Given the description of an element on the screen output the (x, y) to click on. 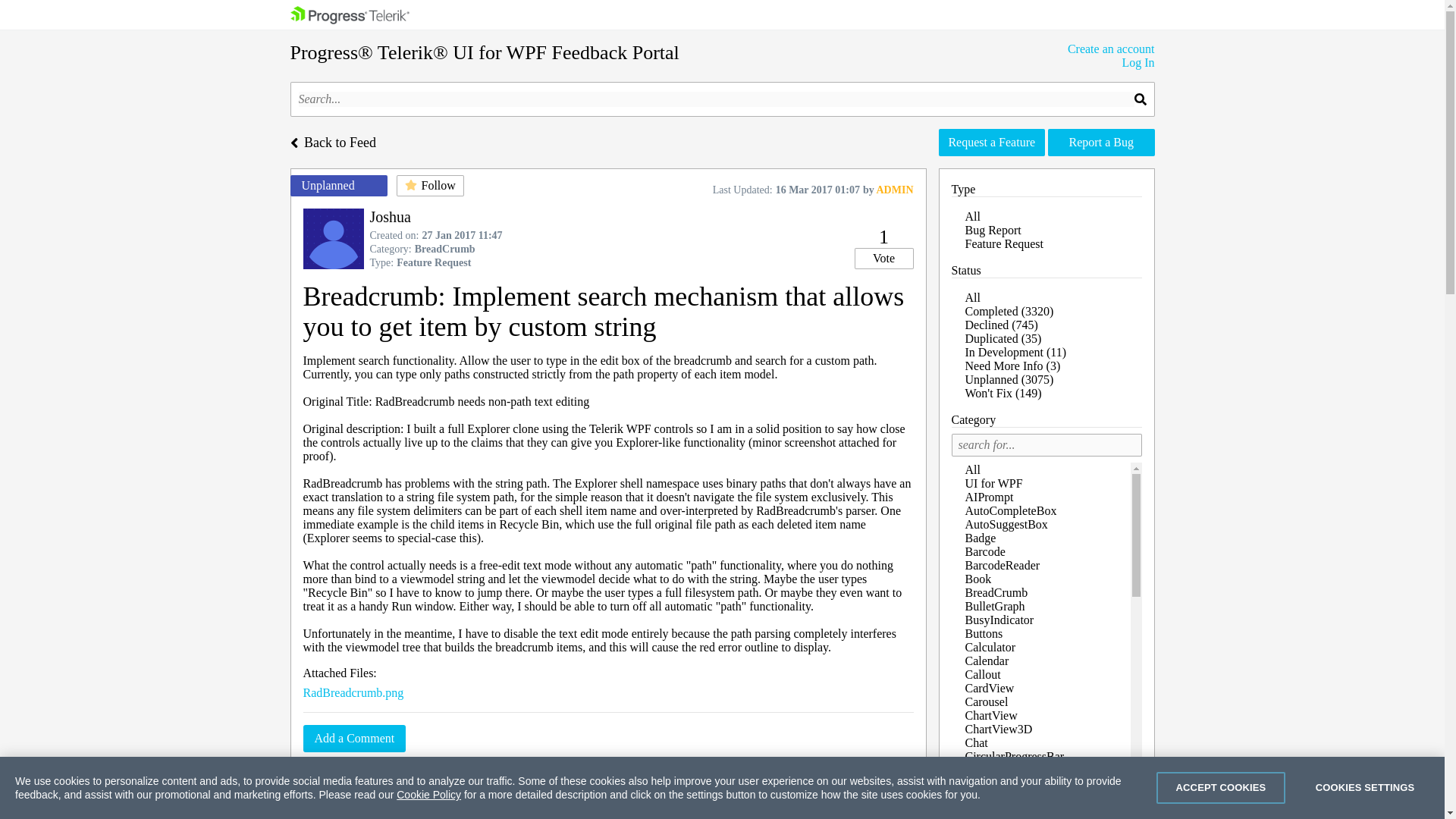
Request a Feature (992, 142)
All (971, 216)
All (971, 469)
AutoSuggestBox (1004, 524)
Add a Comment (354, 738)
Create an account (1110, 49)
Feature Request (1003, 243)
Back to Feed (332, 141)
Barcode (983, 551)
Vote (882, 258)
All (971, 297)
Book (977, 578)
Log In (1110, 62)
AutoCompleteBox (1010, 510)
BarcodeReader (1001, 565)
